Given the description of an element on the screen output the (x, y) to click on. 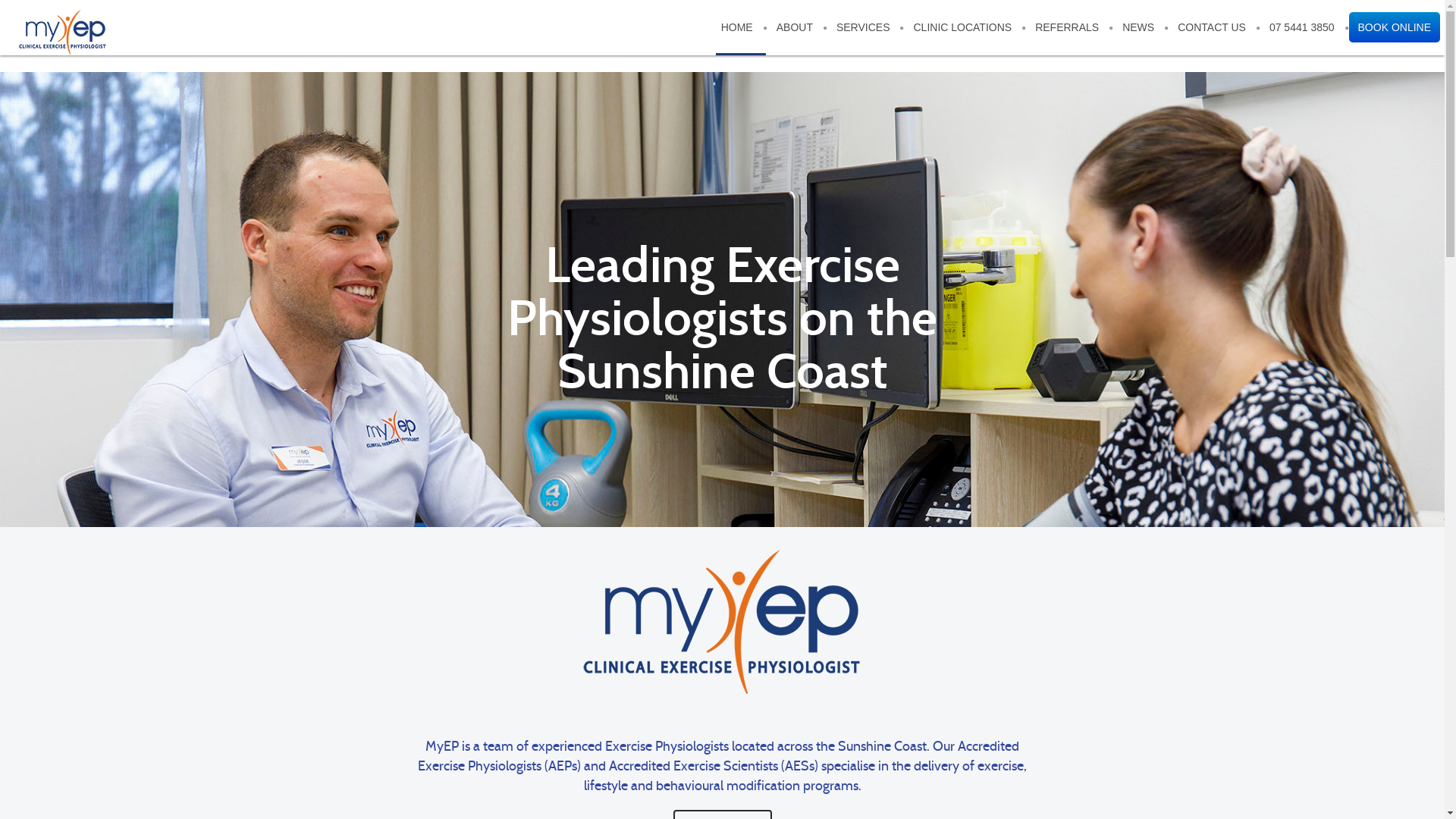
ABOUT Element type: text (794, 27)
HOME Element type: text (737, 27)
NEWS Element type: text (1138, 27)
CONTACT US Element type: text (1211, 27)
SERVICES Element type: text (863, 27)
07 5441 3850 Element type: text (1301, 27)
REFERRALS Element type: text (1066, 27)
